Given the description of an element on the screen output the (x, y) to click on. 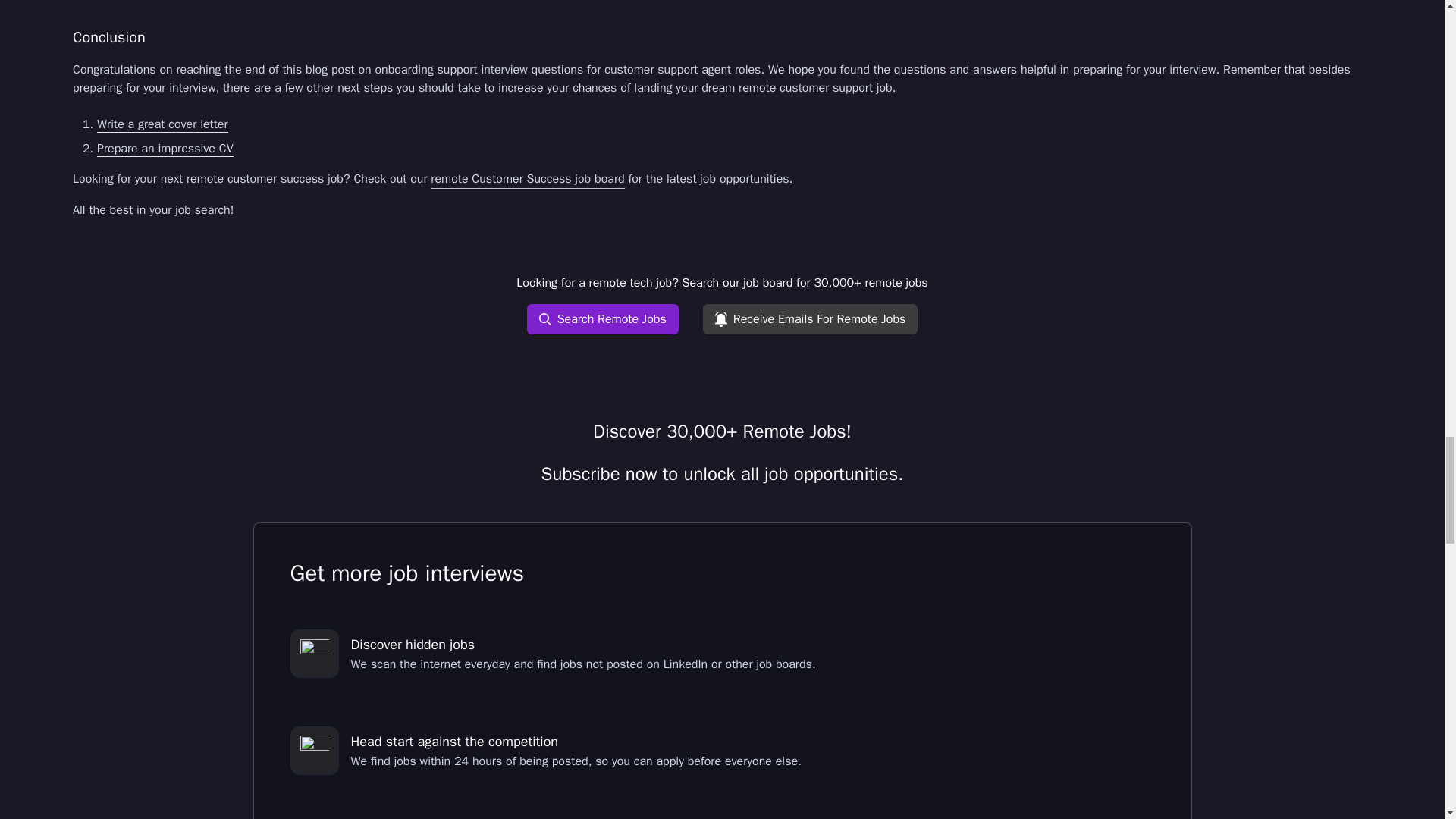
Search Remote Jobs (602, 318)
Prepare an impressive CV (164, 148)
Receive Emails For Remote Jobs (810, 318)
Write a great cover letter (162, 124)
remote Customer Success job board (527, 179)
